Given the description of an element on the screen output the (x, y) to click on. 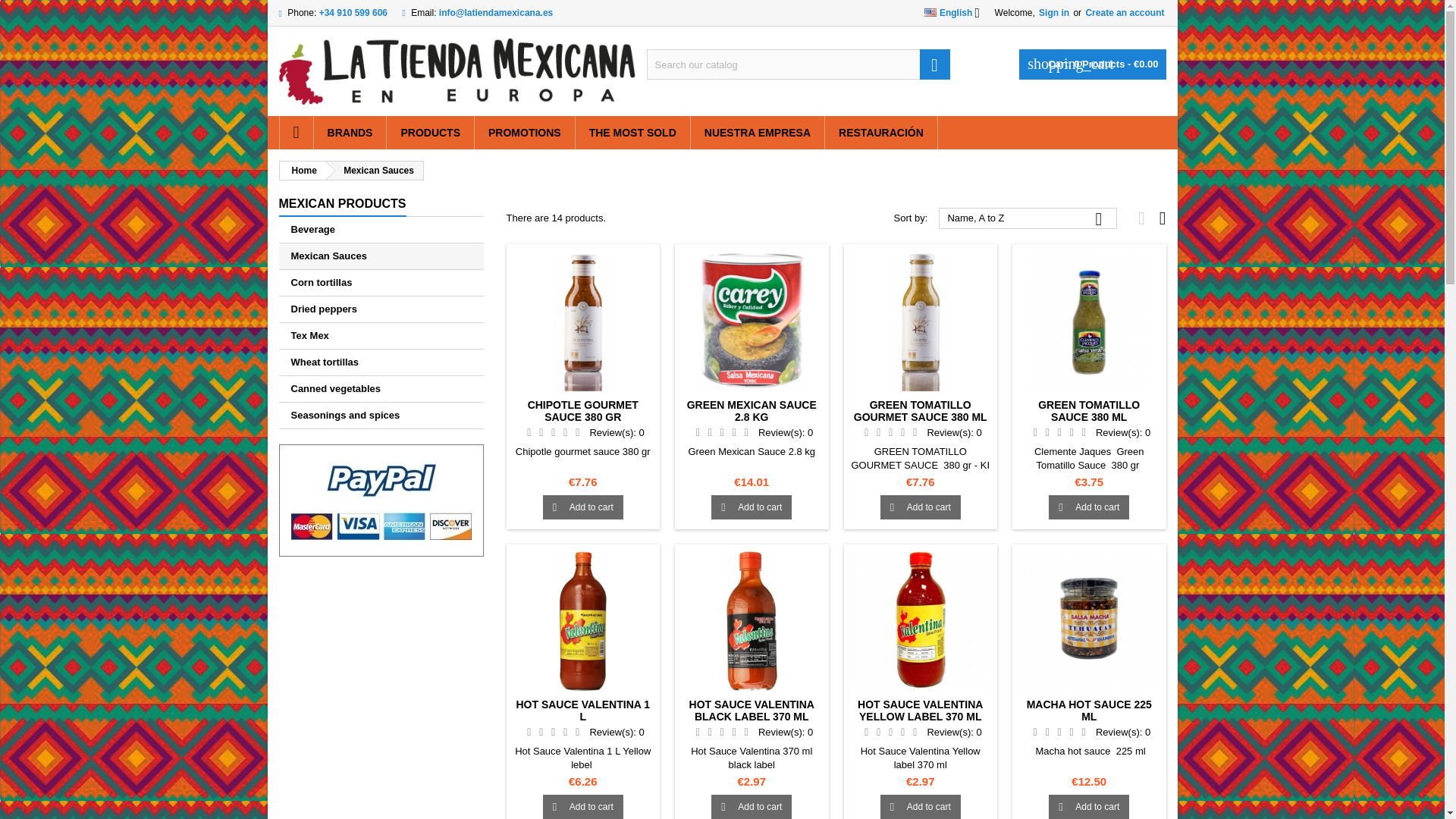
PROMOTIONS (524, 132)
Mexican Sauces (374, 170)
Mexican Sauces (381, 256)
Canned vegetables (381, 388)
Create an account (1124, 12)
PRODUCTS (430, 132)
Log in to your customer account (1124, 12)
Categories (342, 204)
Tex Mex (381, 335)
Corn tortillas (381, 283)
NUESTRA EMPRESA (757, 132)
Log in to your customer account (1053, 12)
Paypal (381, 500)
MEXICAN PRODUCTS (342, 204)
THE MOST SOLD (632, 132)
